Given the description of an element on the screen output the (x, y) to click on. 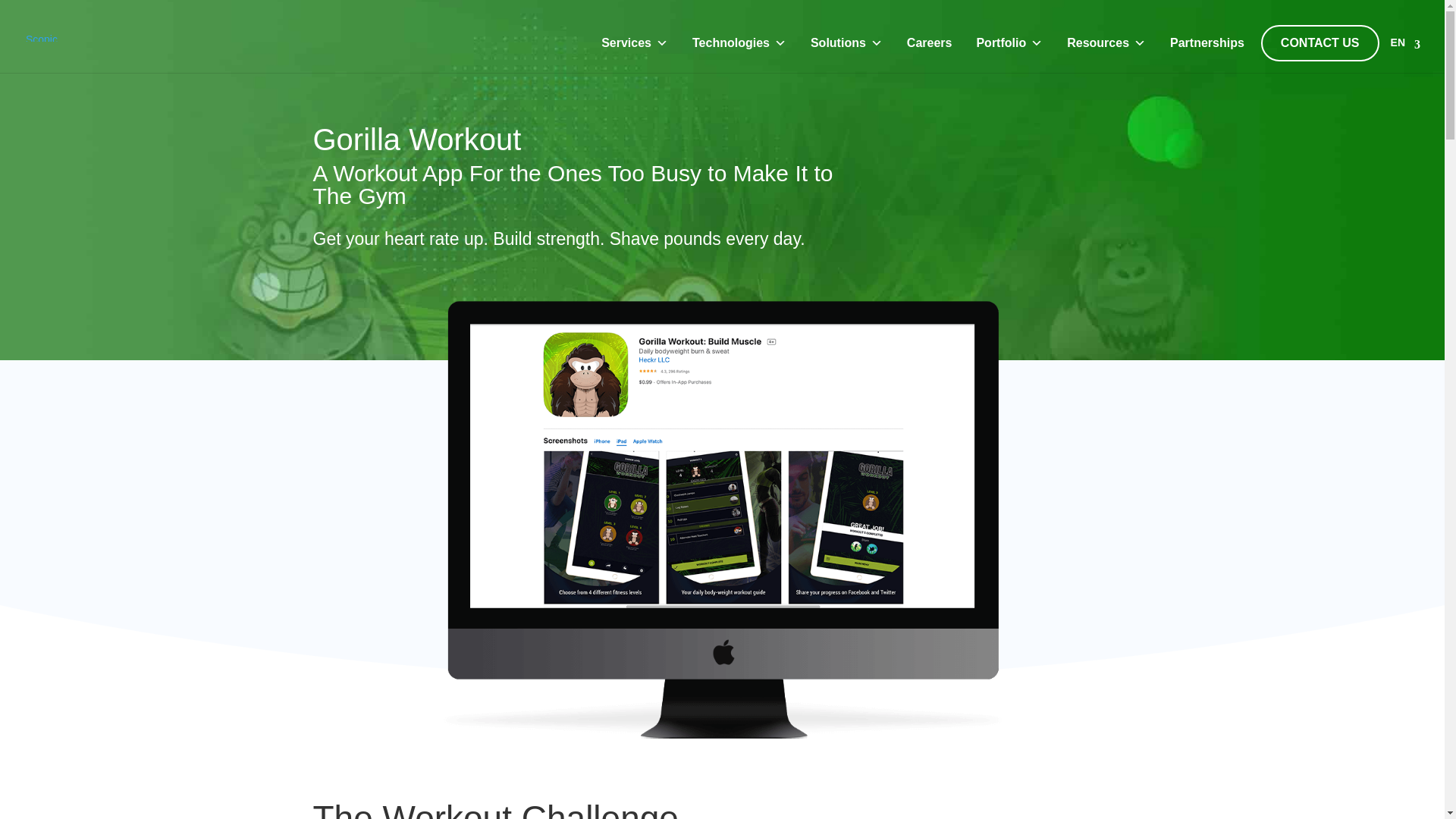
Services (639, 42)
English (1405, 43)
Scopic (42, 35)
Technologies (743, 42)
